Given the description of an element on the screen output the (x, y) to click on. 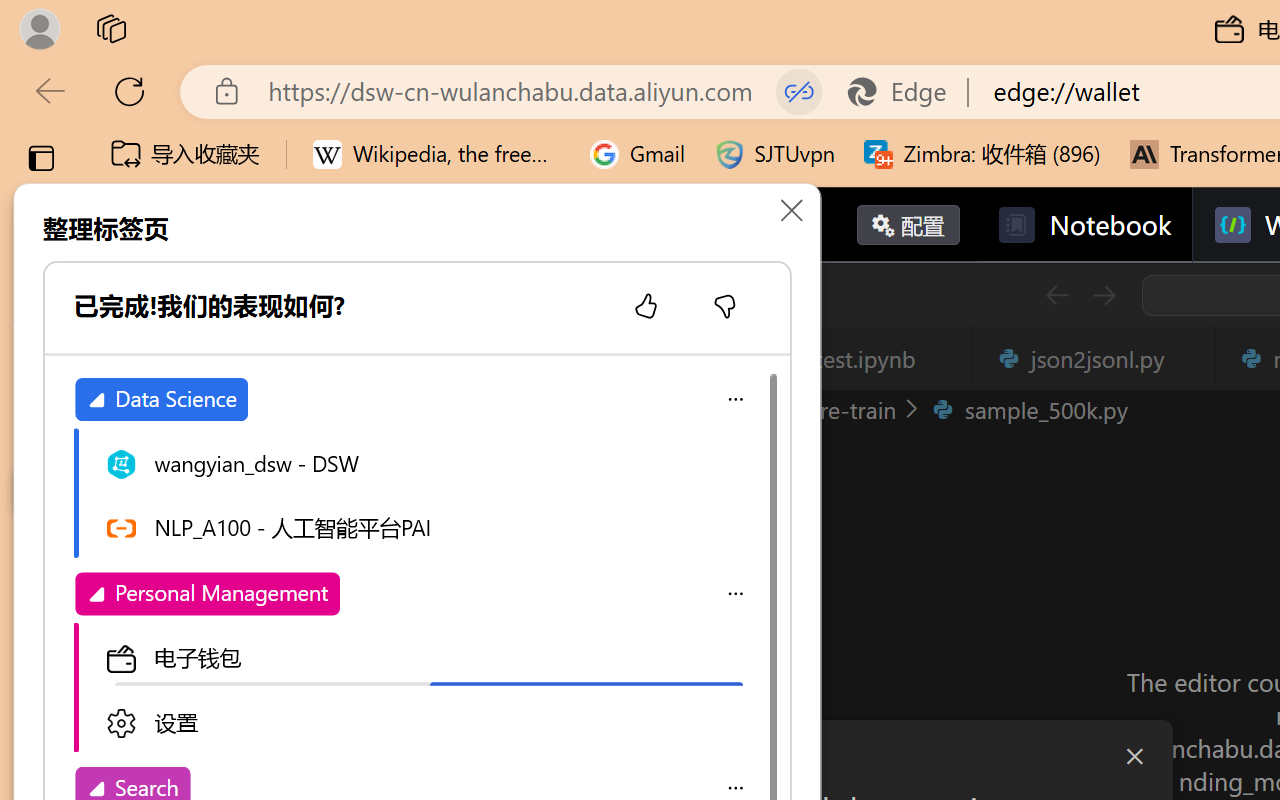
Close Dialog (1133, 756)
json2jsonl.py (1092, 358)
Edge (905, 91)
Tab actions (1188, 358)
